Given the description of an element on the screen output the (x, y) to click on. 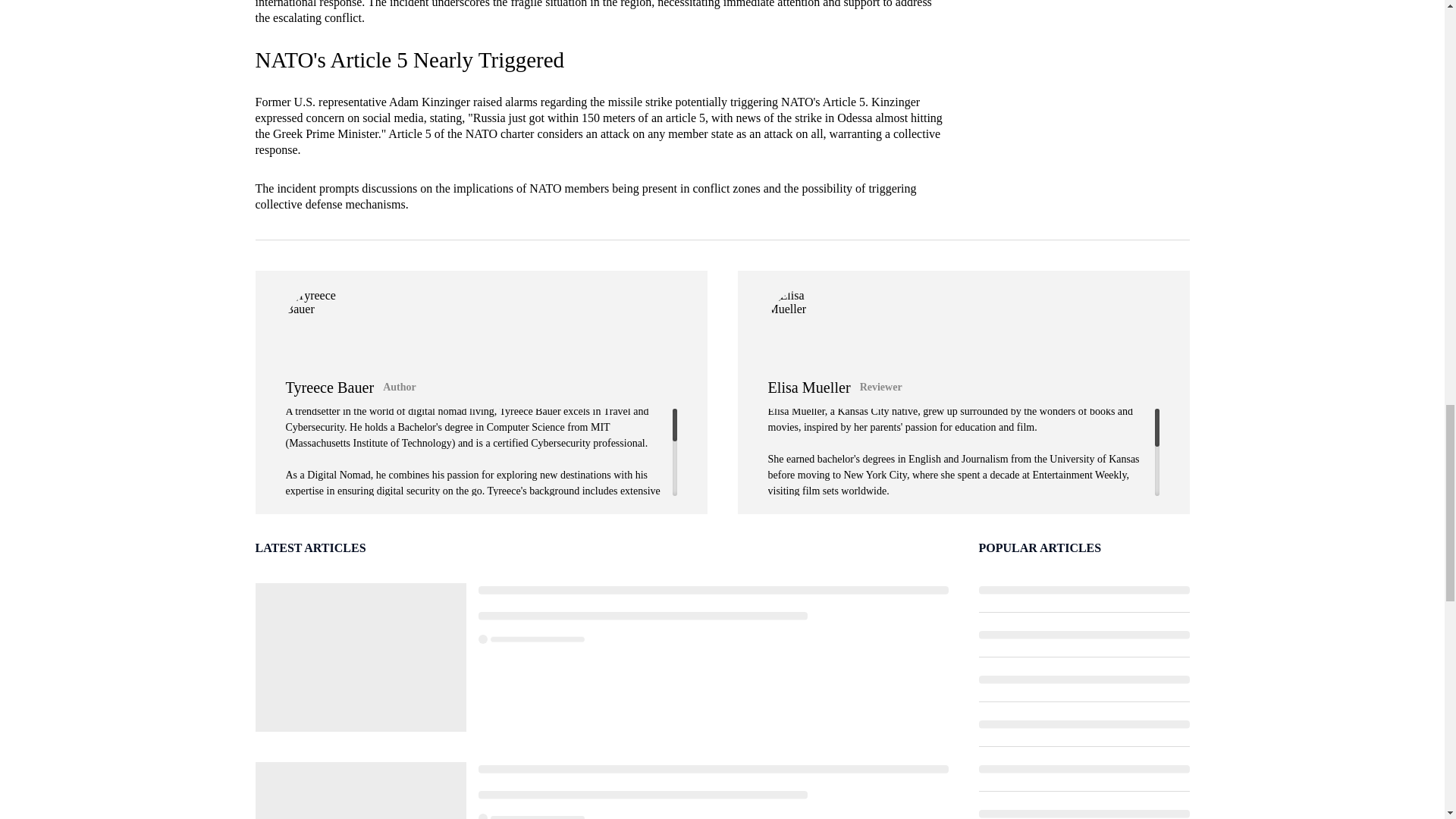
NATO's Article 5 Nearly Triggered (409, 59)
